Given the description of an element on the screen output the (x, y) to click on. 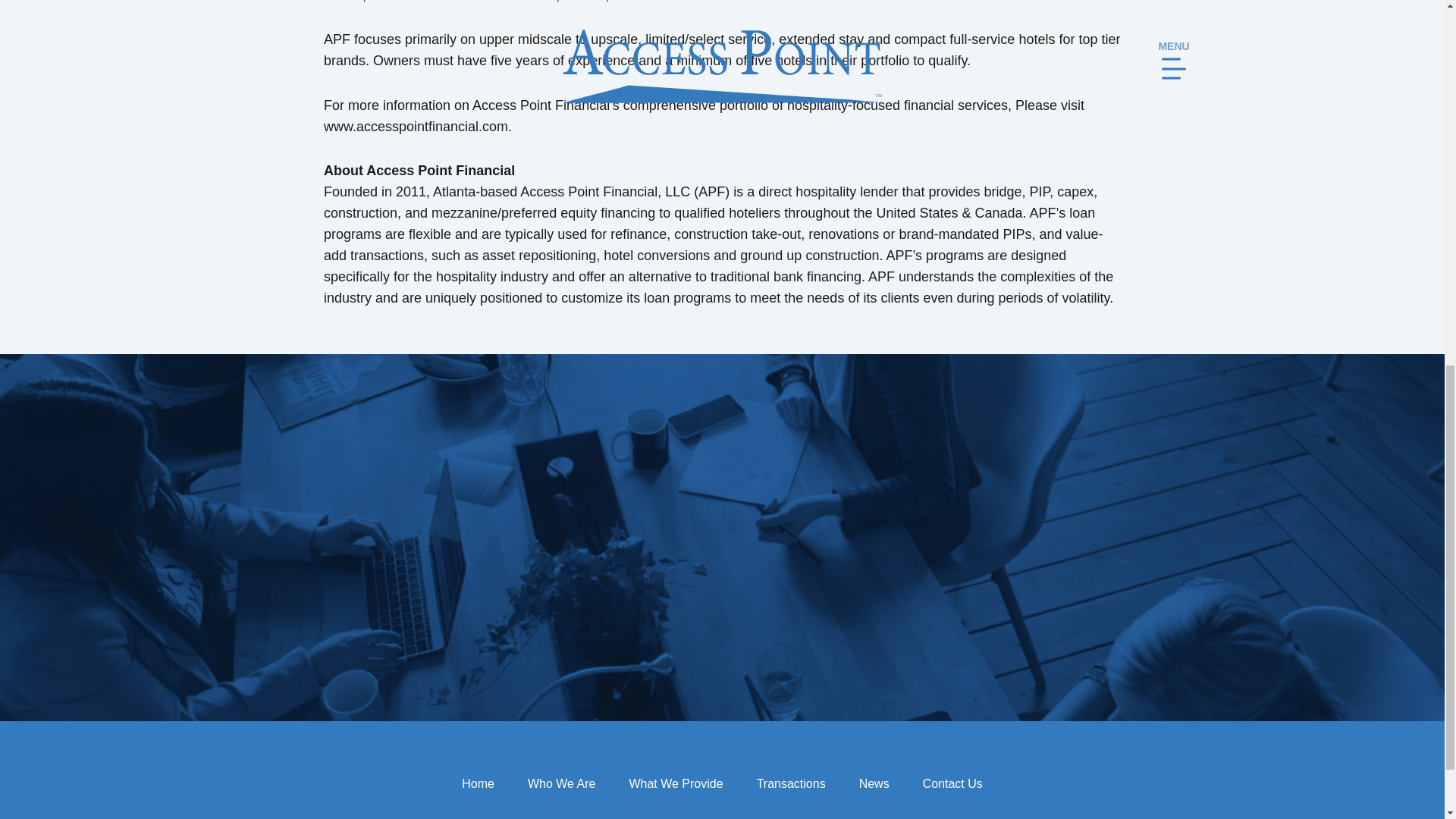
Transactions (791, 784)
What We Provide (675, 784)
www.accesspointfinancial.com (415, 126)
Contact Us (952, 784)
Home (478, 784)
Who We Are (561, 784)
News (874, 784)
